Given the description of an element on the screen output the (x, y) to click on. 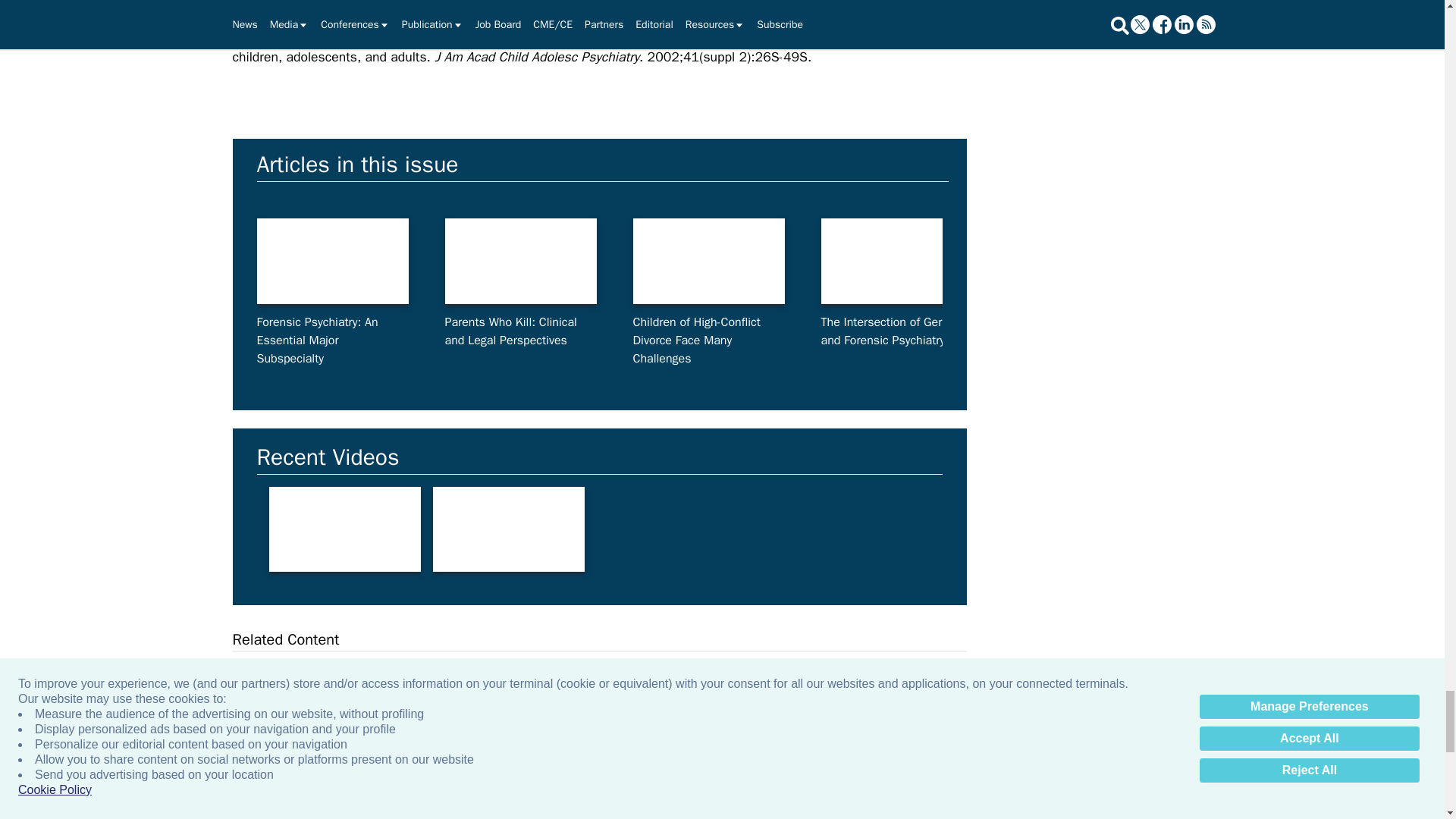
Forensic Evaluations: Testamentary Capacity (1272, 260)
Forensic Psychiatry: An Essential Major Subspecialty (331, 260)
